Given the description of an element on the screen output the (x, y) to click on. 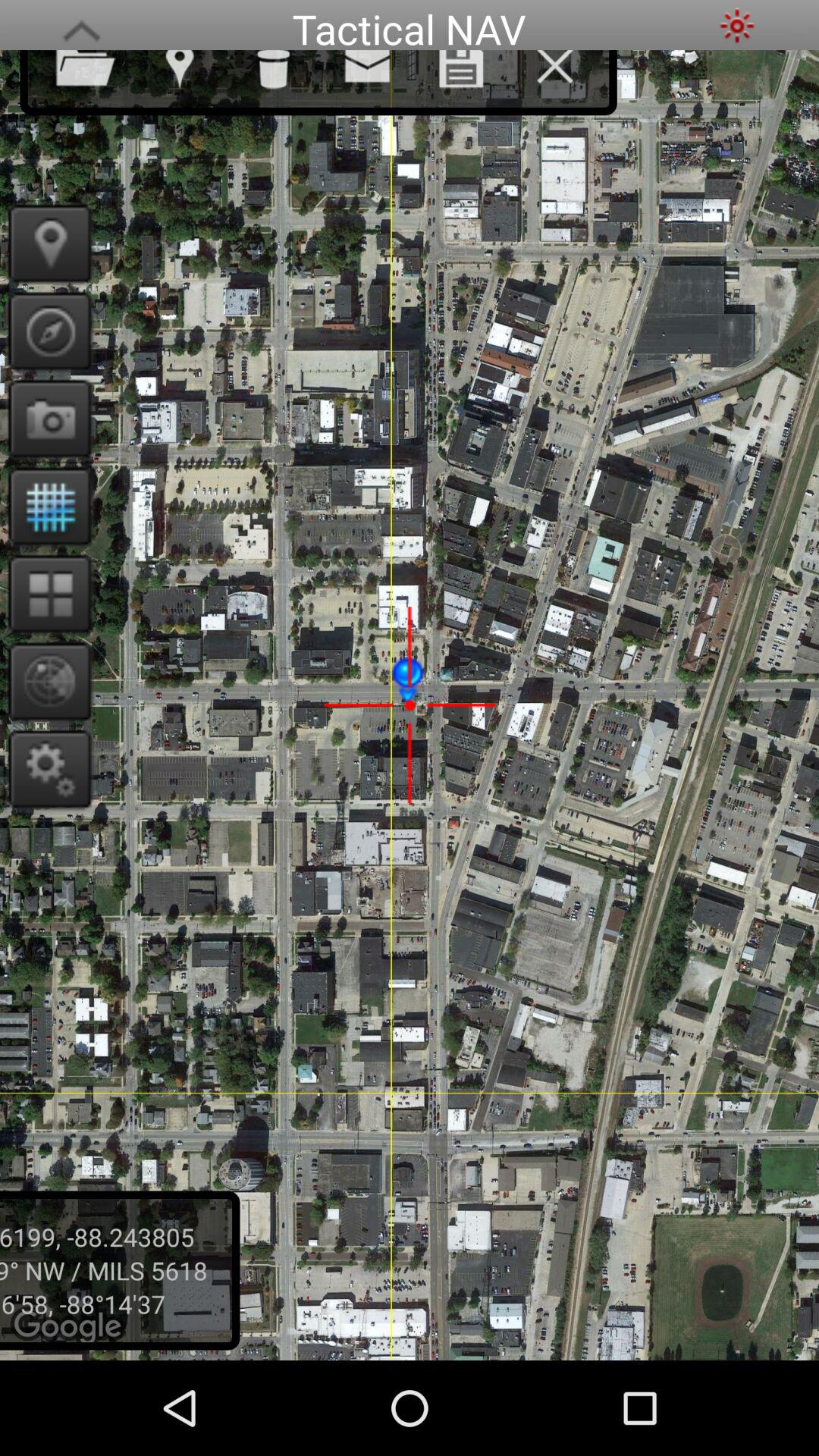
press the icon next to tactical nav app (81, 25)
